Given the description of an element on the screen output the (x, y) to click on. 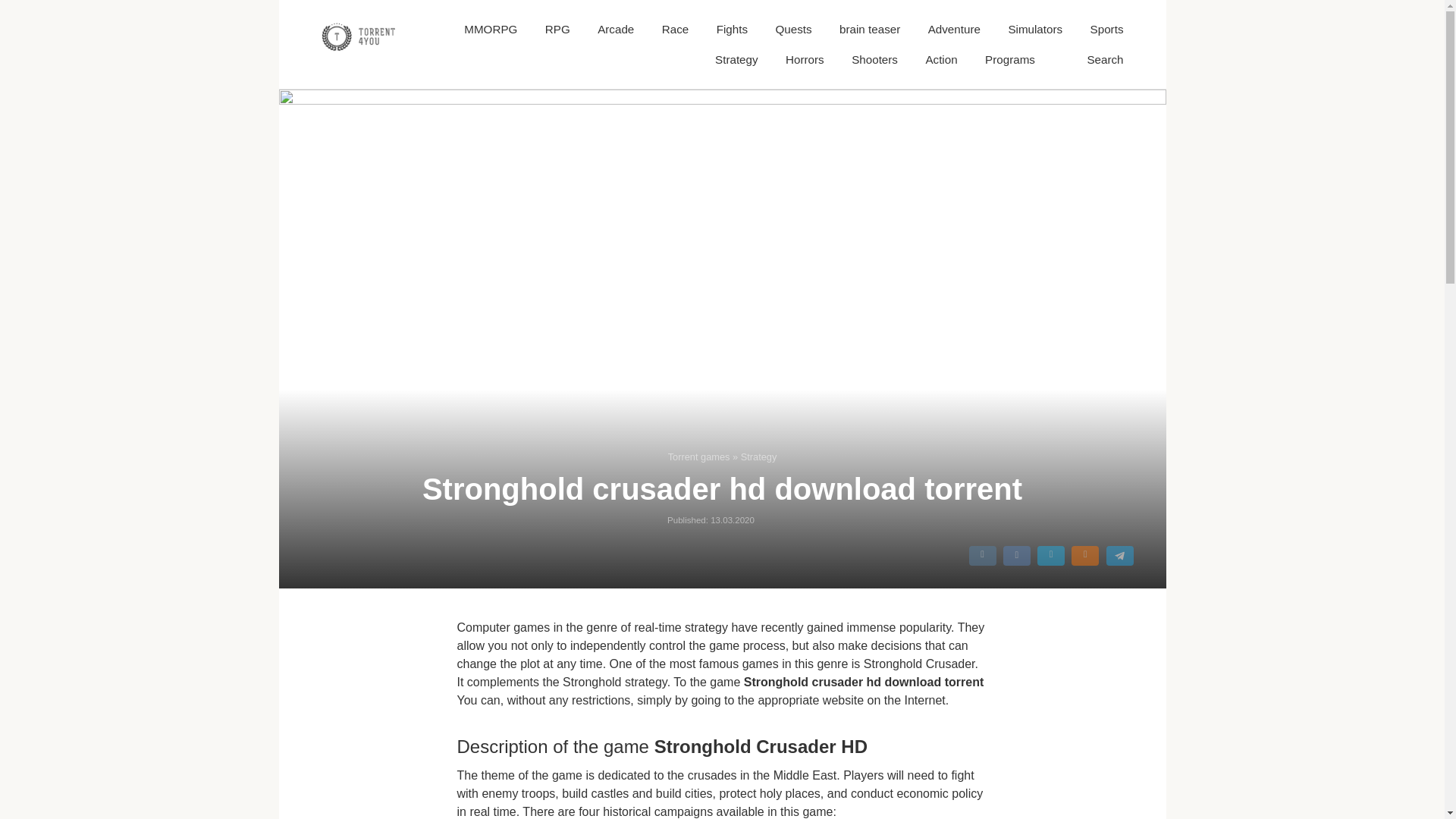
Simulators (1034, 29)
brain teaser (869, 29)
Horrors (805, 59)
Strategy (759, 456)
Search (1104, 59)
Adventure (953, 29)
Shooters (874, 59)
Programs (1010, 59)
Strategy (736, 59)
Fights (732, 29)
Quests (792, 29)
Action (940, 59)
Race (675, 29)
RPG (557, 29)
Torrent games (699, 456)
